Given the description of an element on the screen output the (x, y) to click on. 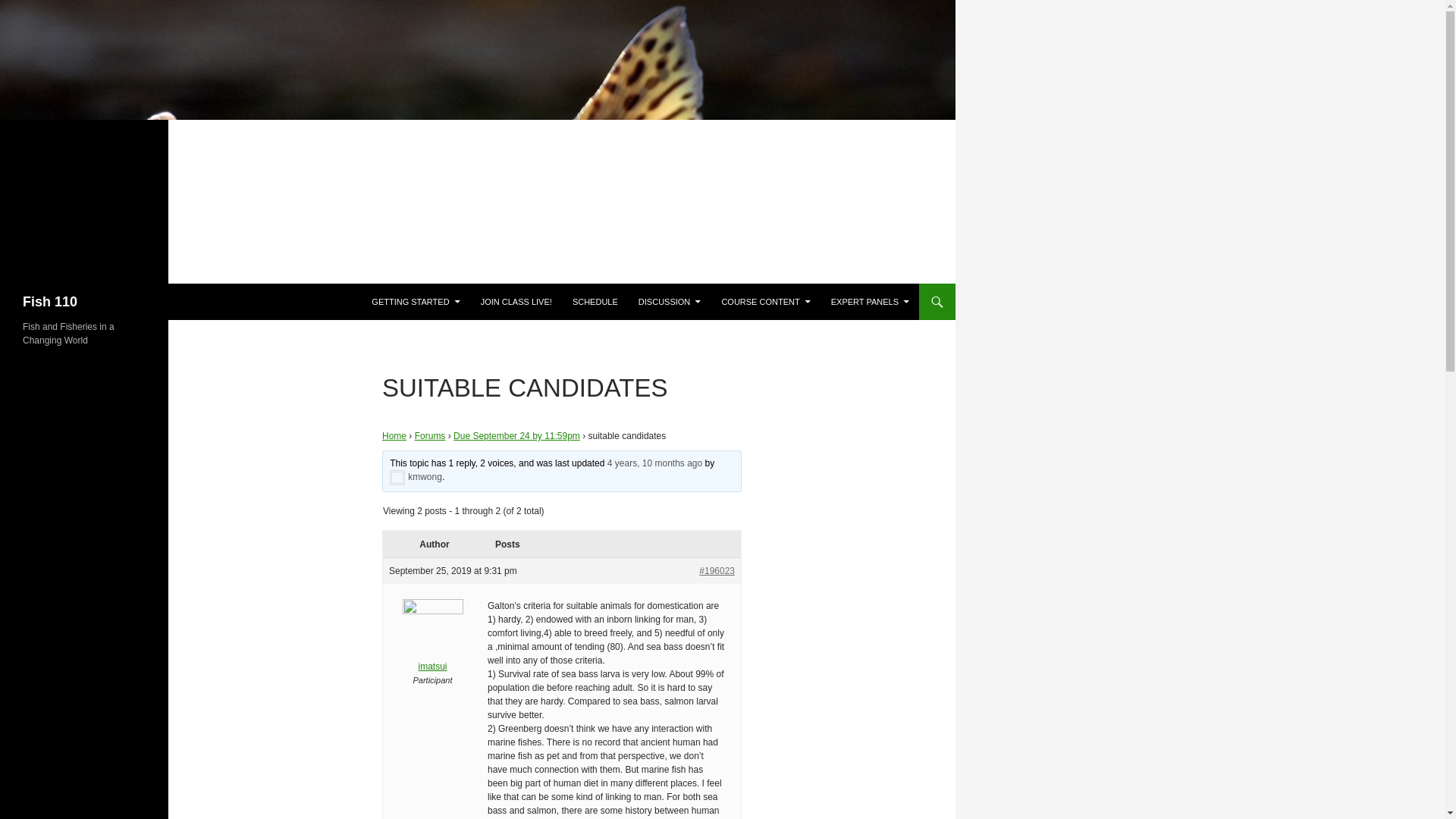
DISCUSSION (669, 301)
COURSE CONTENT (764, 301)
View imatsui's profile (432, 646)
View kmwong's profile (416, 476)
SCHEDULE (595, 301)
Reply To: suitable candidates (654, 462)
GETTING STARTED (415, 301)
JOIN CLASS LIVE! (515, 301)
Fish 110 (50, 301)
